Given the description of an element on the screen output the (x, y) to click on. 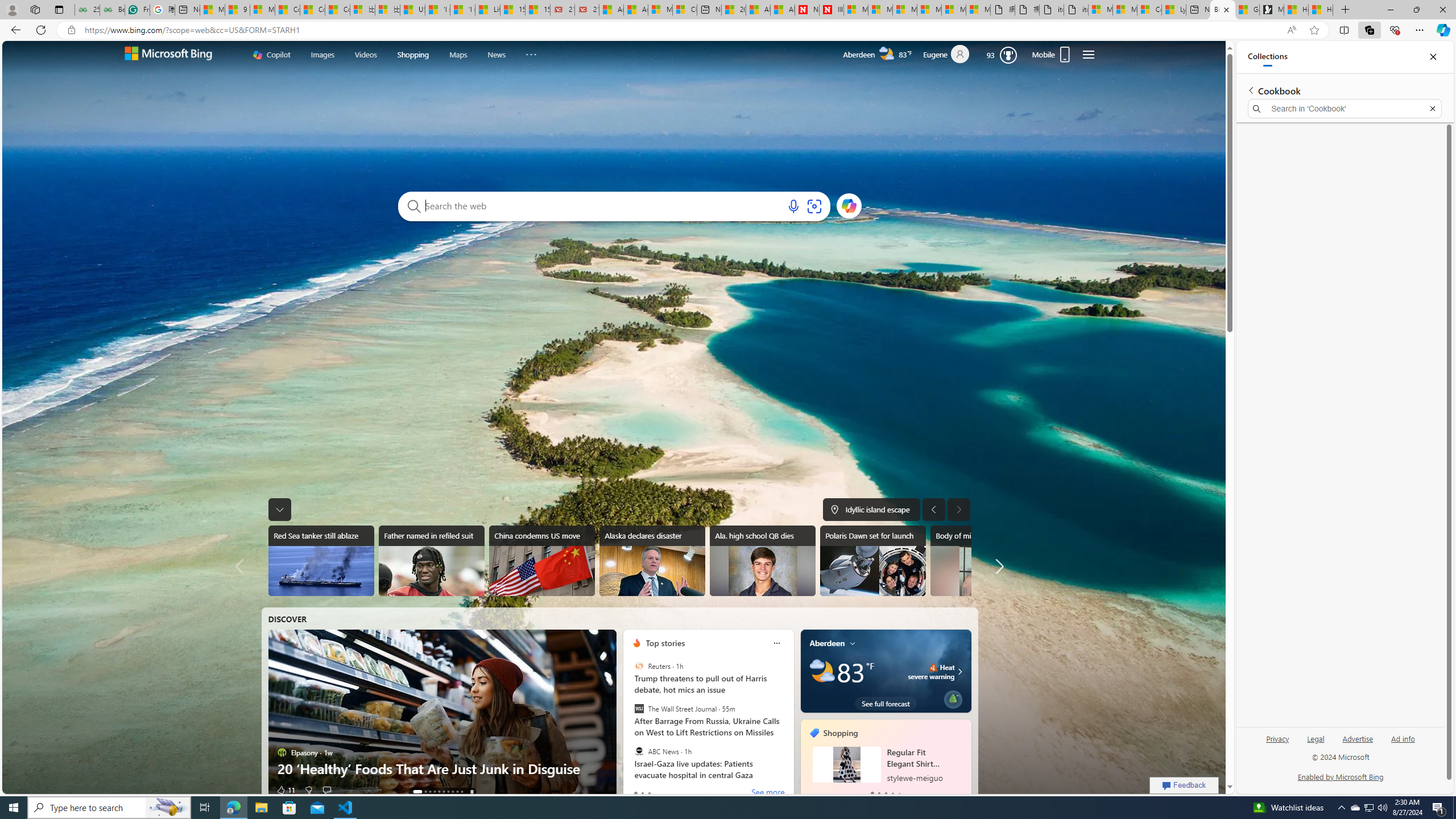
Idyllic island escape (871, 508)
0 characters out of 2000 (604, 205)
Bing (1222, 9)
Partly cloudy (821, 671)
Heat - Severe Heat severe warning (931, 671)
China condemns US move (542, 560)
Polaris Dawn set for launch (872, 560)
